Given the description of an element on the screen output the (x, y) to click on. 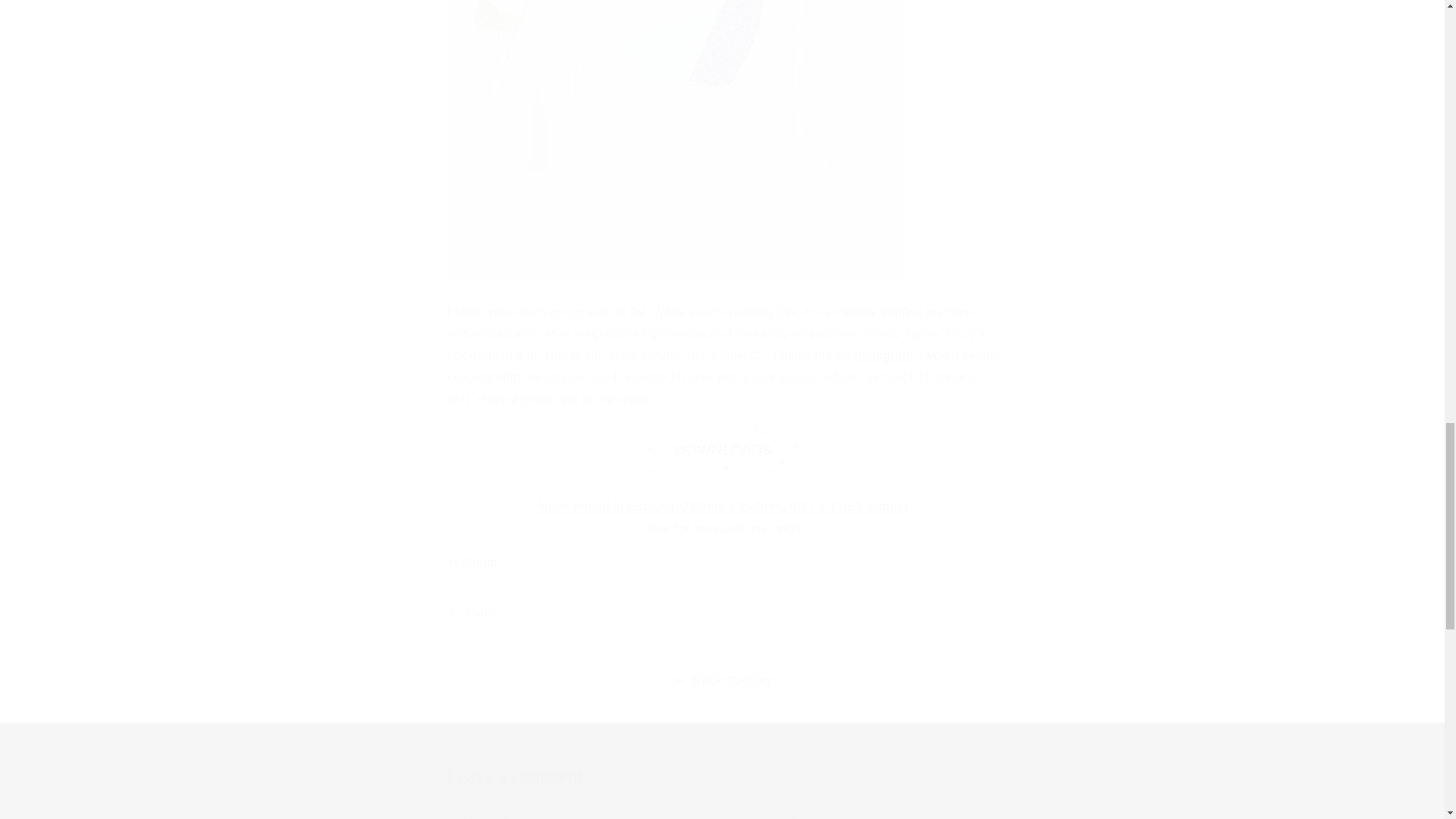
Instagram (883, 354)
Share (721, 613)
